Given the description of an element on the screen output the (x, y) to click on. 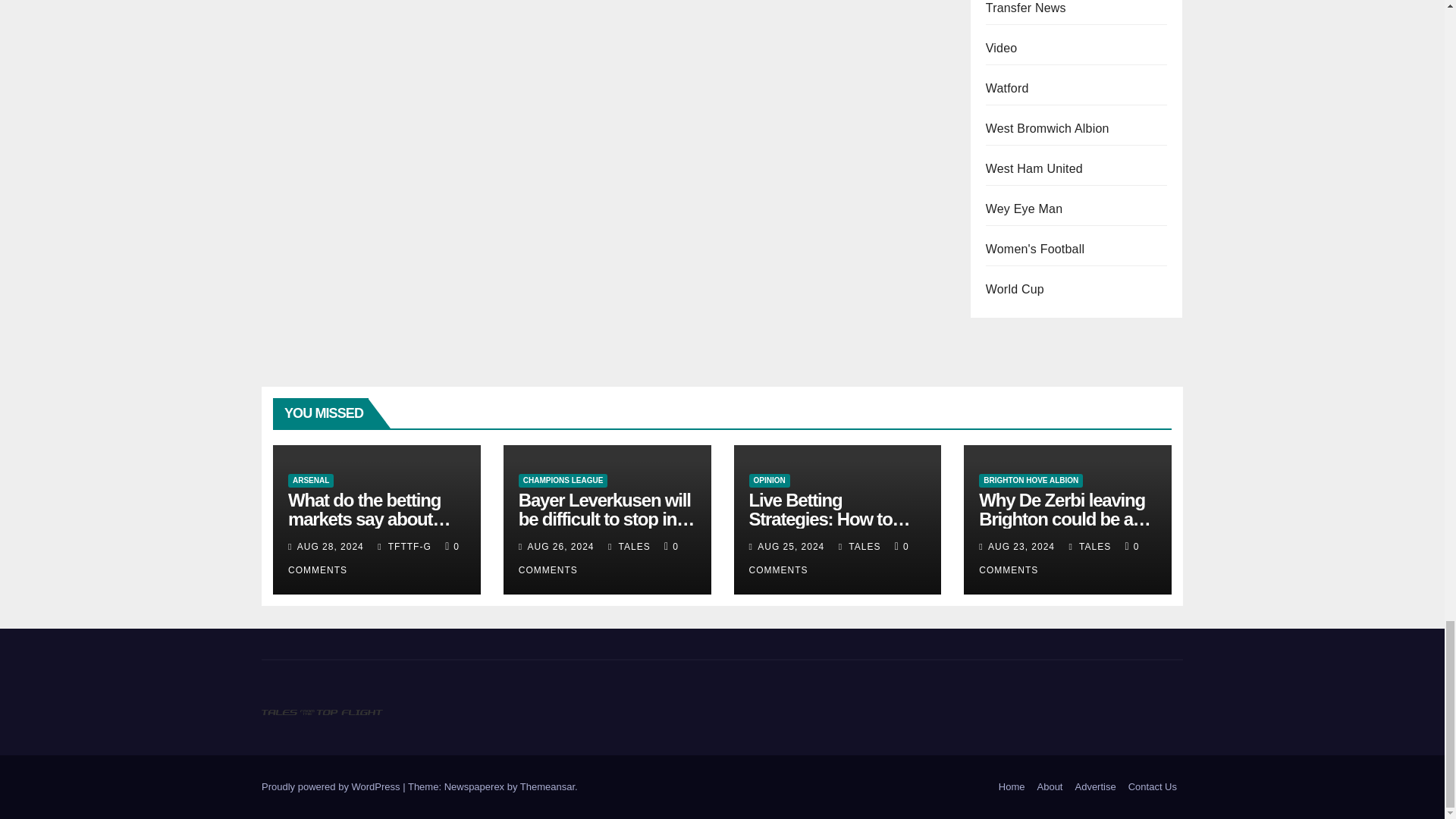
Home (1011, 786)
